Given the description of an element on the screen output the (x, y) to click on. 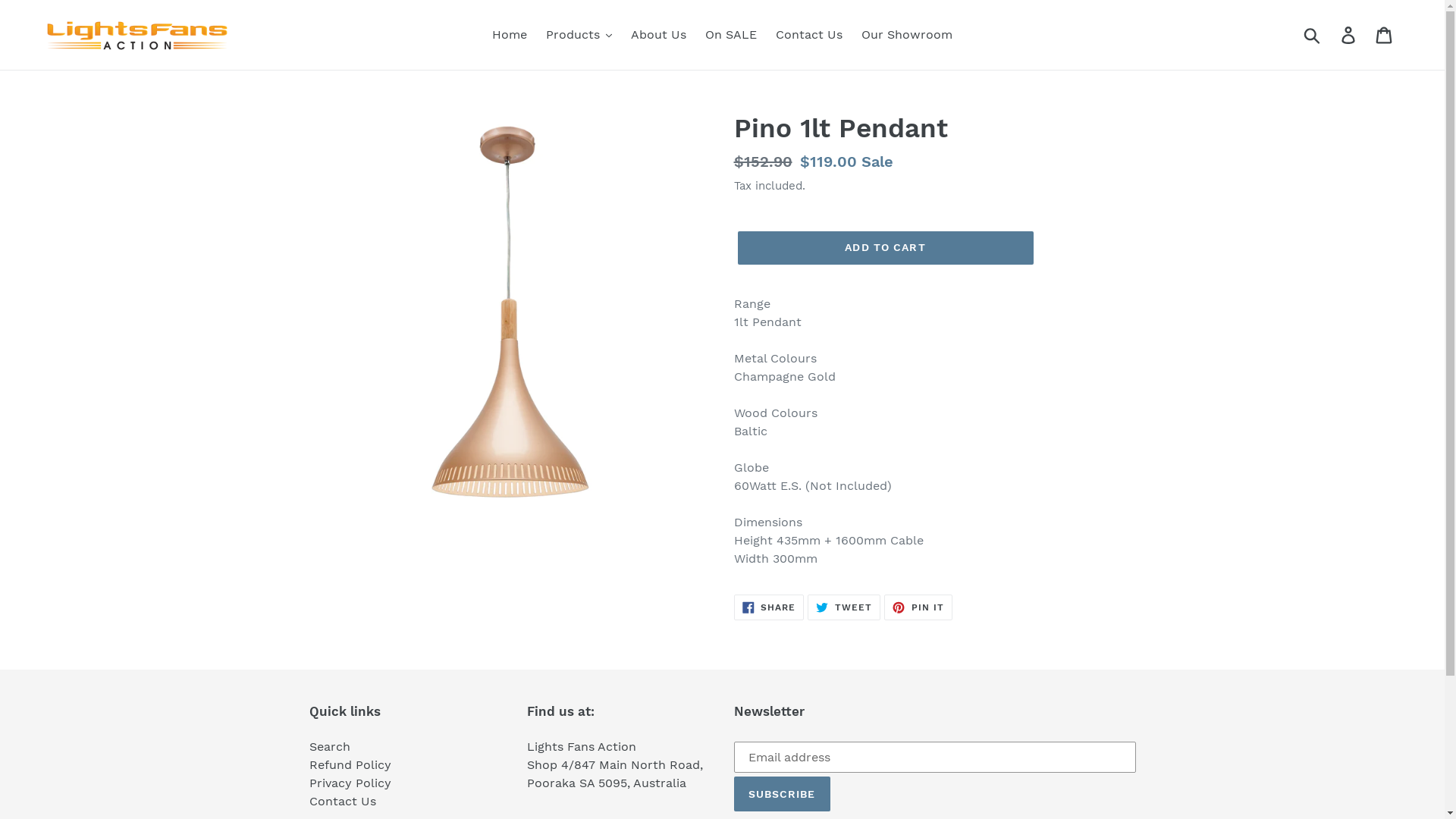
SUBSCRIBE Element type: text (782, 793)
About Us Element type: text (658, 34)
Submit Element type: text (1312, 34)
Home Element type: text (509, 34)
TWEET
TWEET ON TWITTER Element type: text (843, 607)
ADD TO CART Element type: text (884, 247)
Search Element type: text (329, 746)
Cart Element type: text (1384, 35)
Log in Element type: text (1349, 35)
Privacy Policy Element type: text (350, 782)
Our Showroom Element type: text (906, 34)
On SALE Element type: text (730, 34)
Refund Policy Element type: text (350, 764)
SHARE
SHARE ON FACEBOOK Element type: text (769, 607)
PIN IT
PIN ON PINTEREST Element type: text (918, 607)
Contact Us Element type: text (809, 34)
Contact Us Element type: text (342, 800)
